Given the description of an element on the screen output the (x, y) to click on. 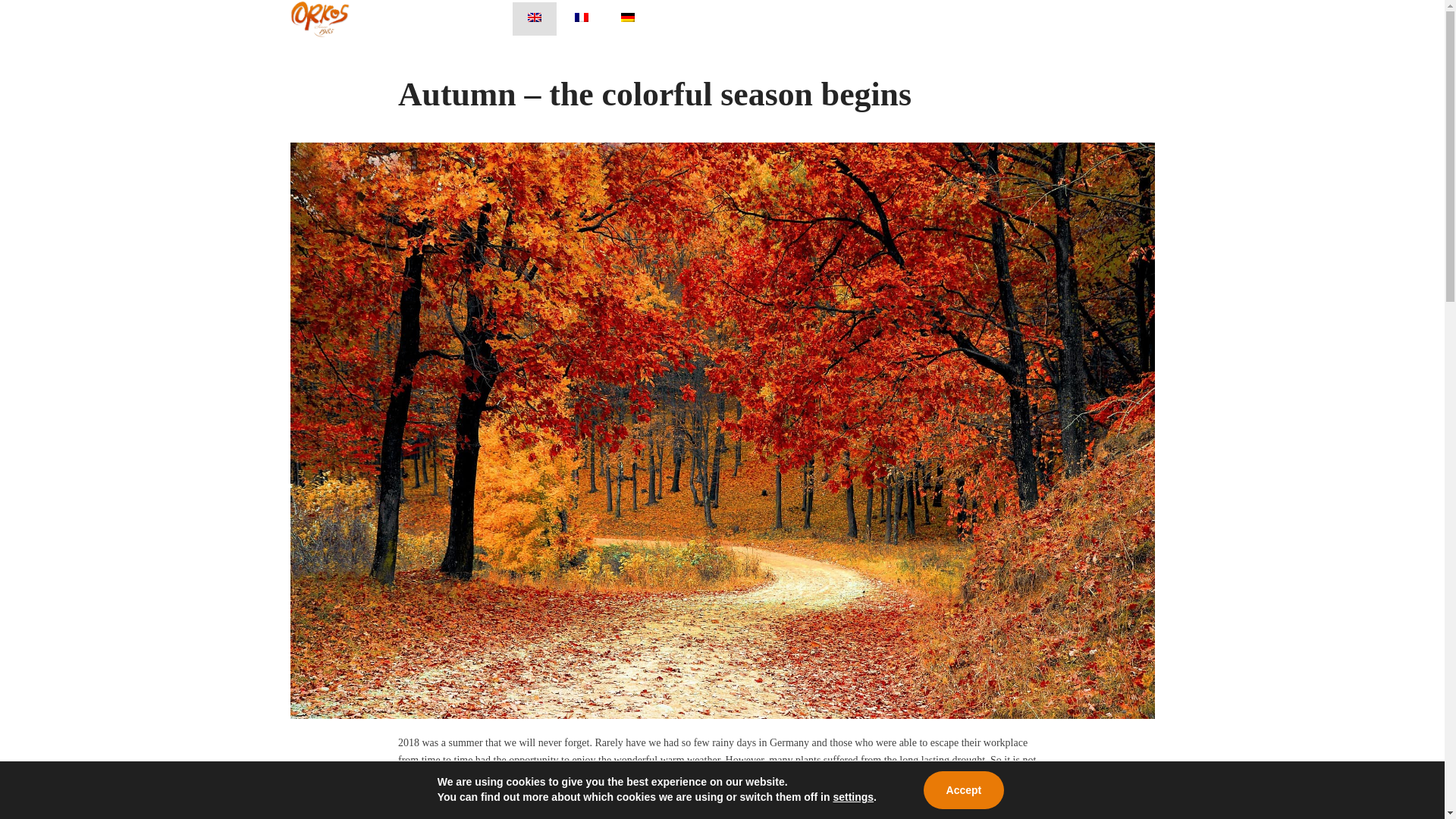
Deutsch (627, 17)
WELCOME (692, 18)
QUALITY (769, 18)
Toggle Search block (1104, 19)
English (534, 17)
BLOG (902, 18)
ORDER (840, 18)
